Given the description of an element on the screen output the (x, y) to click on. 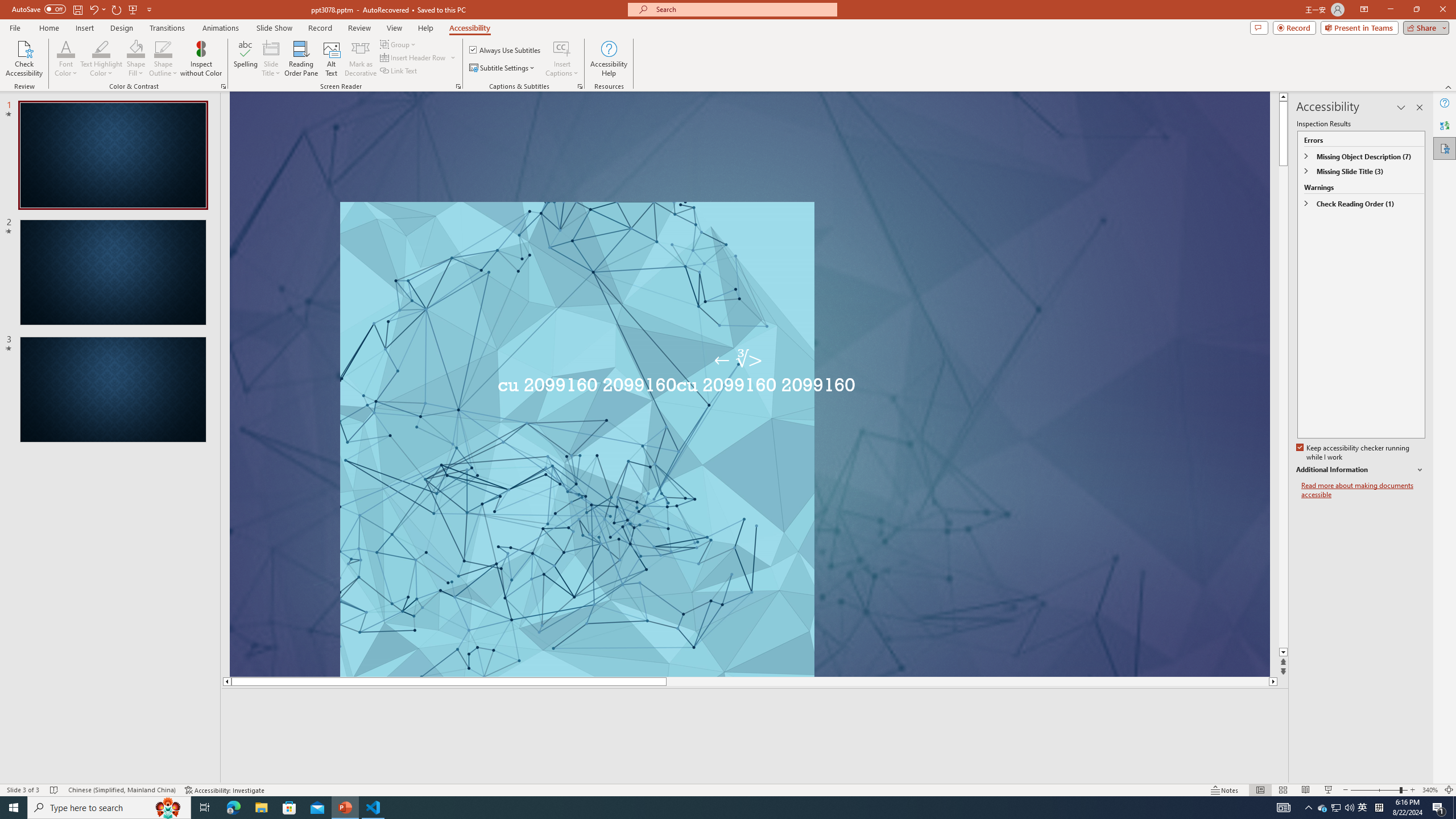
Shape Outline (163, 58)
Insert Header Row (413, 56)
Insert Captions (561, 58)
Link Text (399, 69)
Alt Text (331, 58)
